Given the description of an element on the screen output the (x, y) to click on. 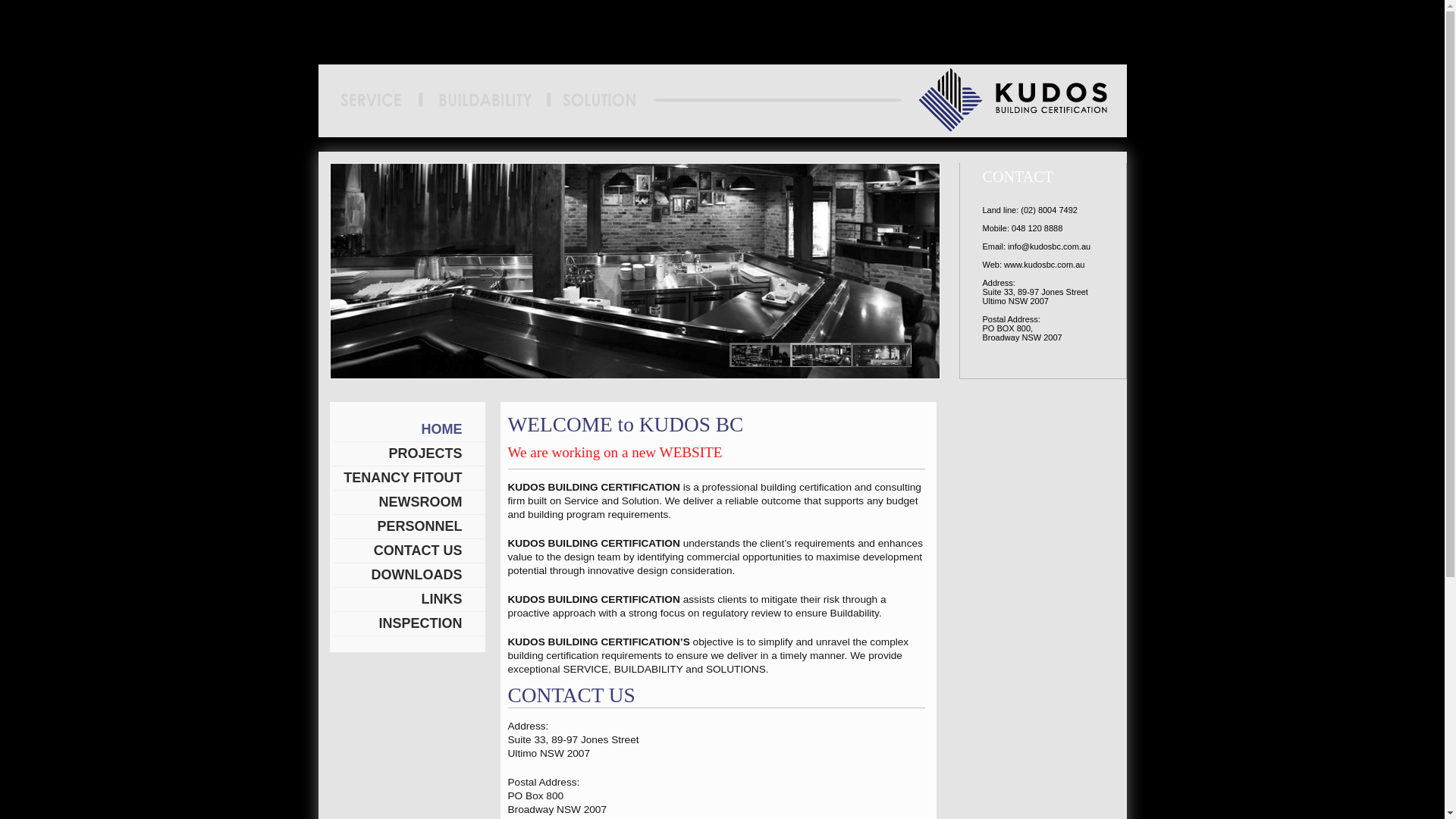
LINKS Element type: text (409, 599)
DOWNLOADS Element type: text (409, 575)
NEWSROOM Element type: text (409, 502)
INSPECTION Element type: text (409, 623)
TENANCY FITOUT Element type: text (409, 478)
HOME Element type: text (409, 429)
PROJECTS Element type: text (409, 454)
PERSONNEL Element type: text (409, 526)
CONTACT US Element type: text (409, 551)
